Given the description of an element on the screen output the (x, y) to click on. 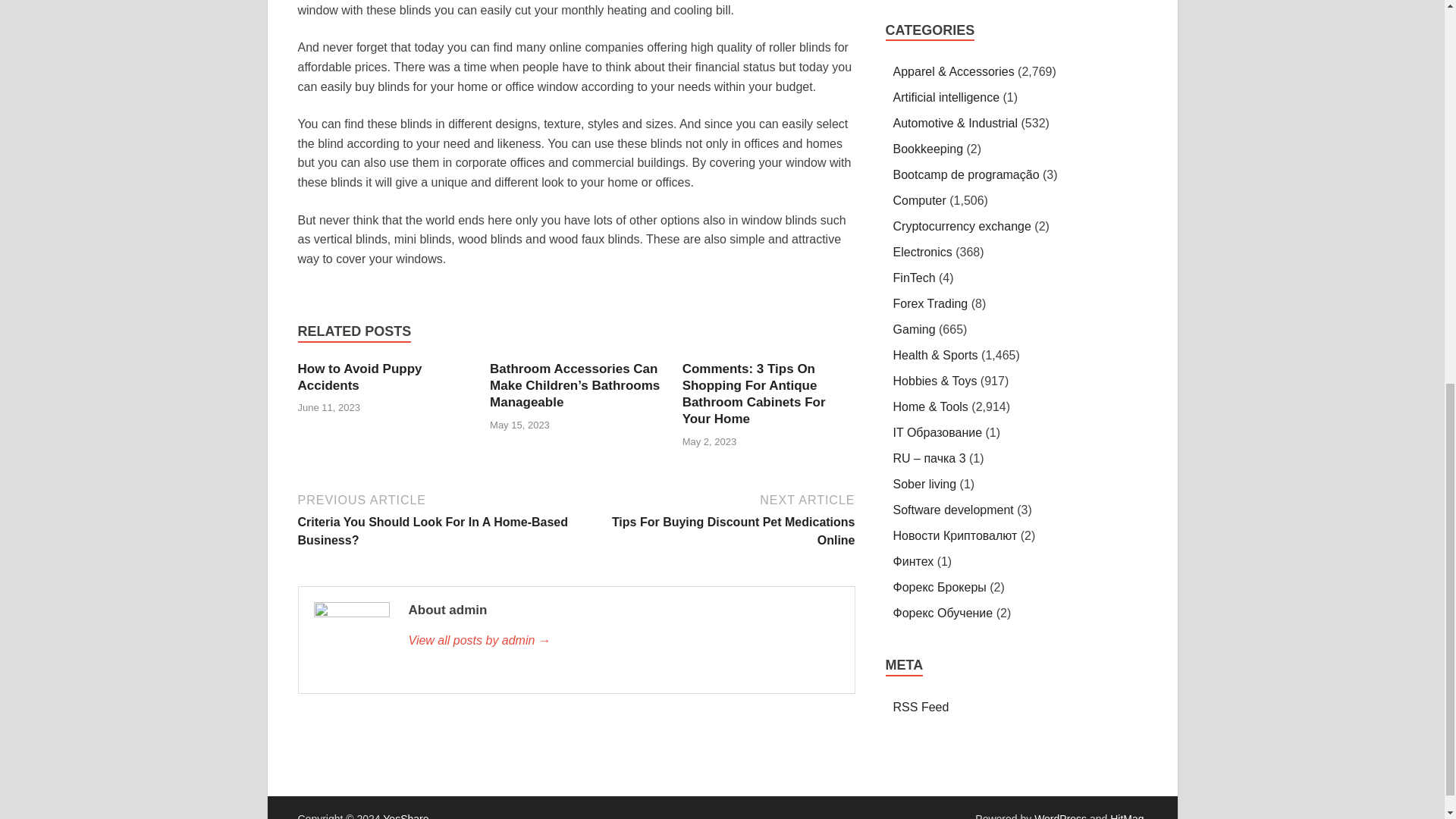
How to Avoid Puppy Accidents (716, 519)
How to Avoid Puppy Accidents (359, 377)
admin (359, 377)
